Given the description of an element on the screen output the (x, y) to click on. 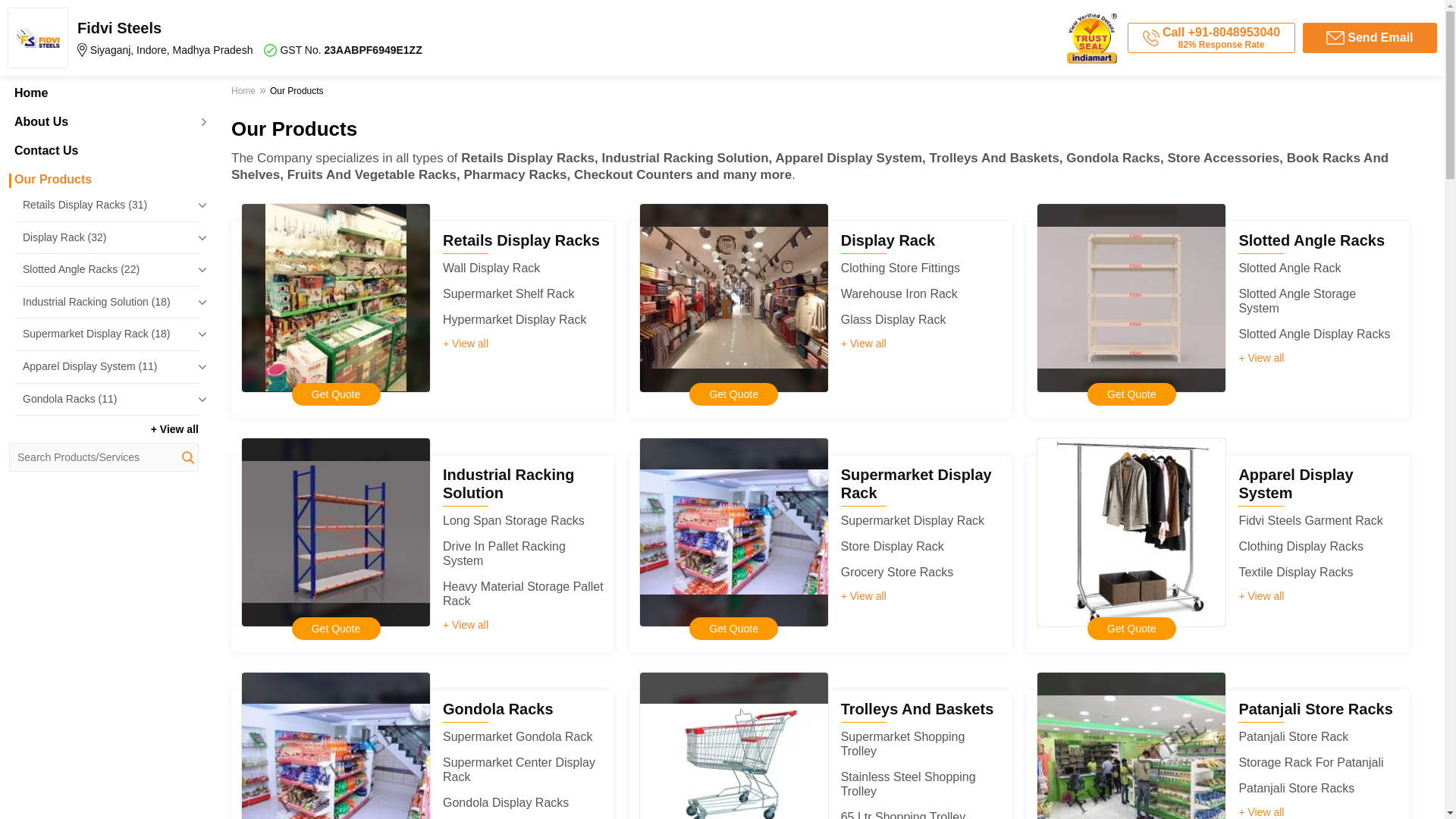
Home (103, 92)
Our Products (103, 179)
About Us (103, 121)
Contact Us (103, 150)
